Given the description of an element on the screen output the (x, y) to click on. 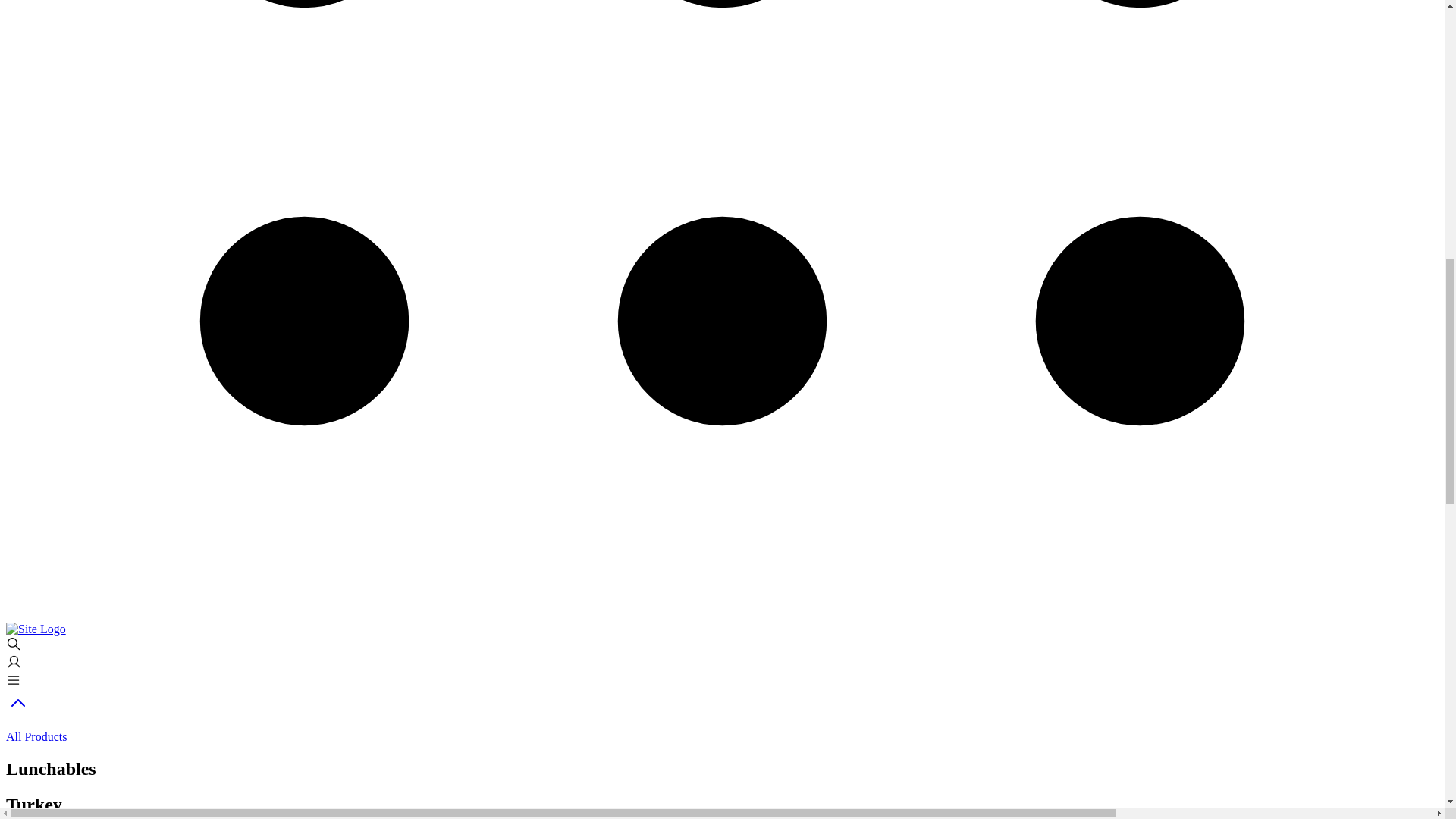
All Products (721, 723)
